Given the description of an element on the screen output the (x, y) to click on. 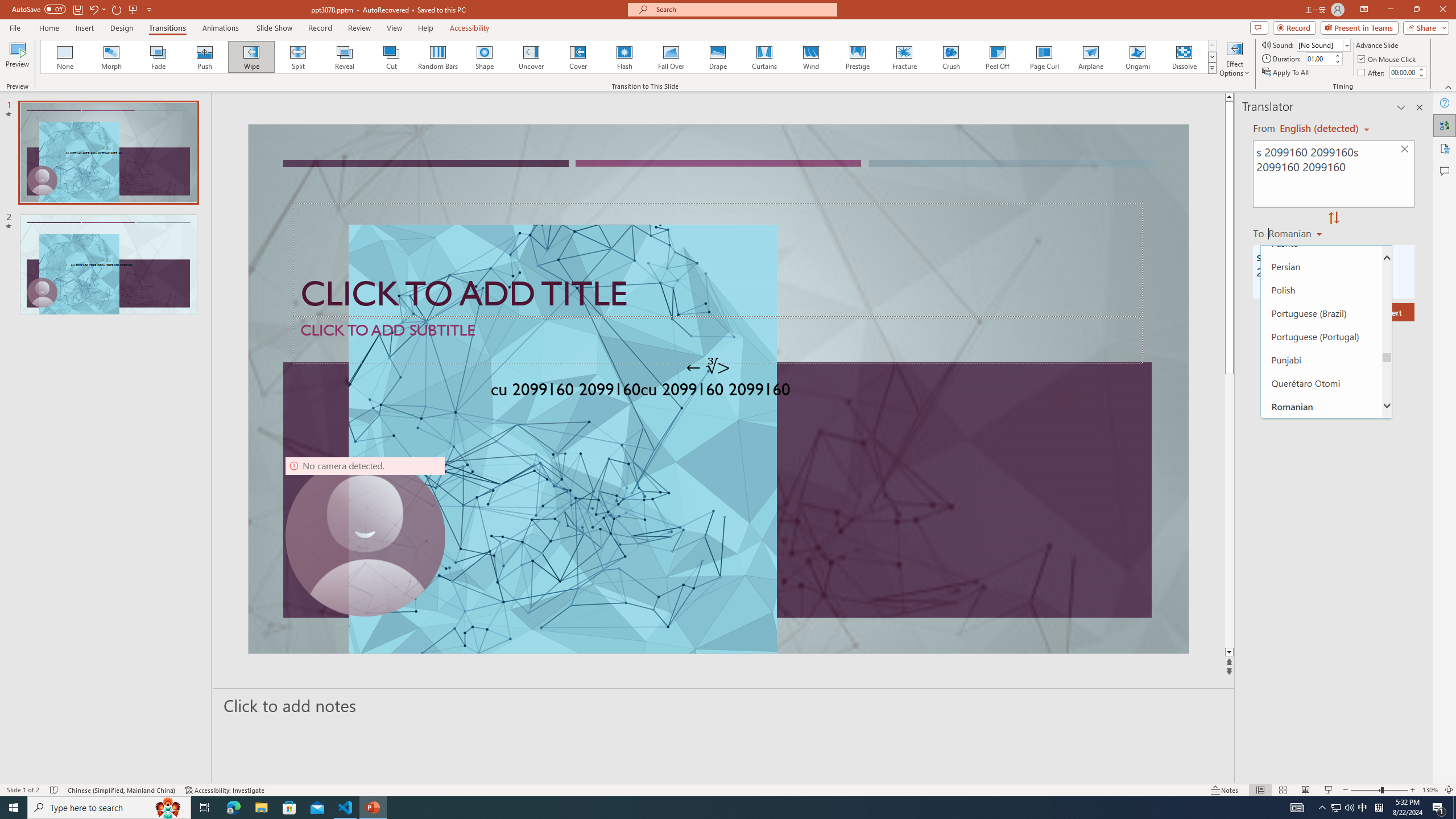
Camera 9, No camera detected. (364, 536)
Sesotho (1320, 545)
Sesotho sa Leboa (1320, 568)
Punjabi (1320, 359)
